Given the description of an element on the screen output the (x, y) to click on. 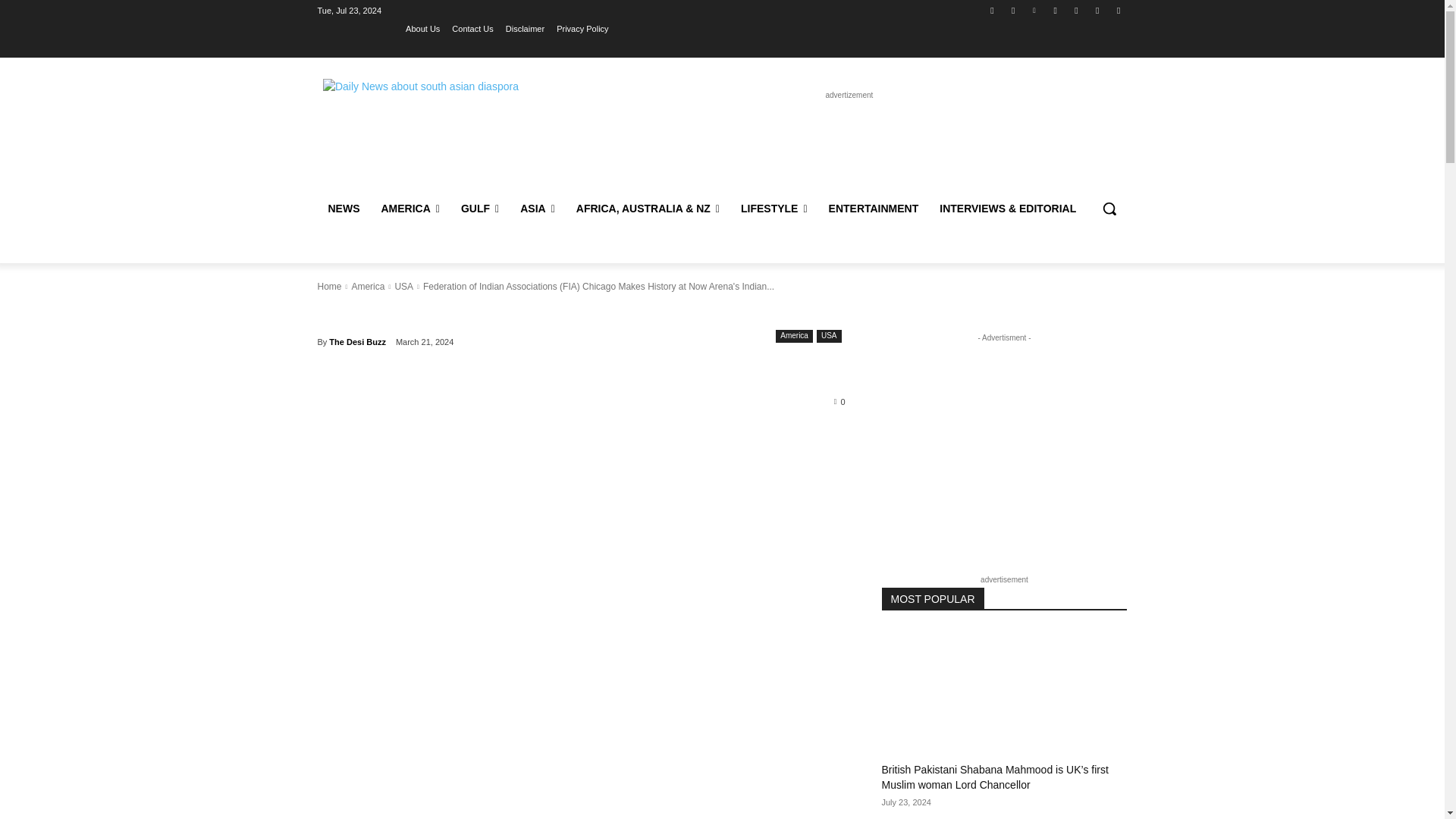
Mail (1055, 9)
Twitter (1075, 9)
WhatsApp (1097, 9)
Linkedin (1034, 9)
About Us (422, 28)
Disclaimer (524, 28)
Contact Us (472, 28)
Privacy Policy (582, 28)
Instagram (1013, 9)
Facebook (992, 9)
